Given the description of an element on the screen output the (x, y) to click on. 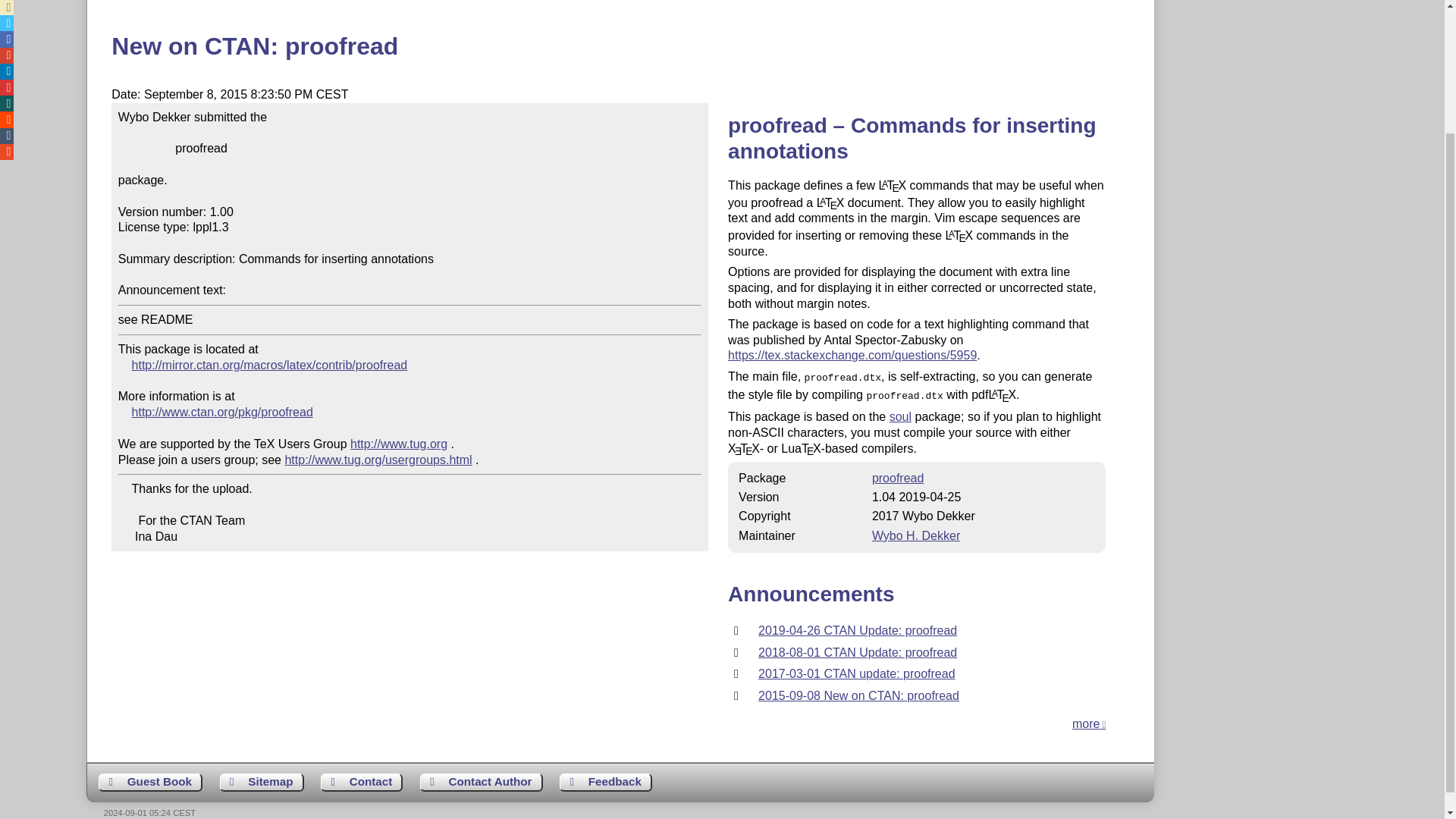
Leave some words for other visitors (150, 782)
Send feedback on the current web page to the Web masters (605, 782)
Send link to this page by email (6, 7)
Show the structure of this site (261, 782)
Wybo H. Dekker (915, 535)
proofread (898, 477)
Get help on how to contact an author (481, 782)
CTAN lion drawing by Duane Bibby (1353, 31)
2019-04-26 CTAN Update: proofread (857, 630)
soul (900, 416)
